Given the description of an element on the screen output the (x, y) to click on. 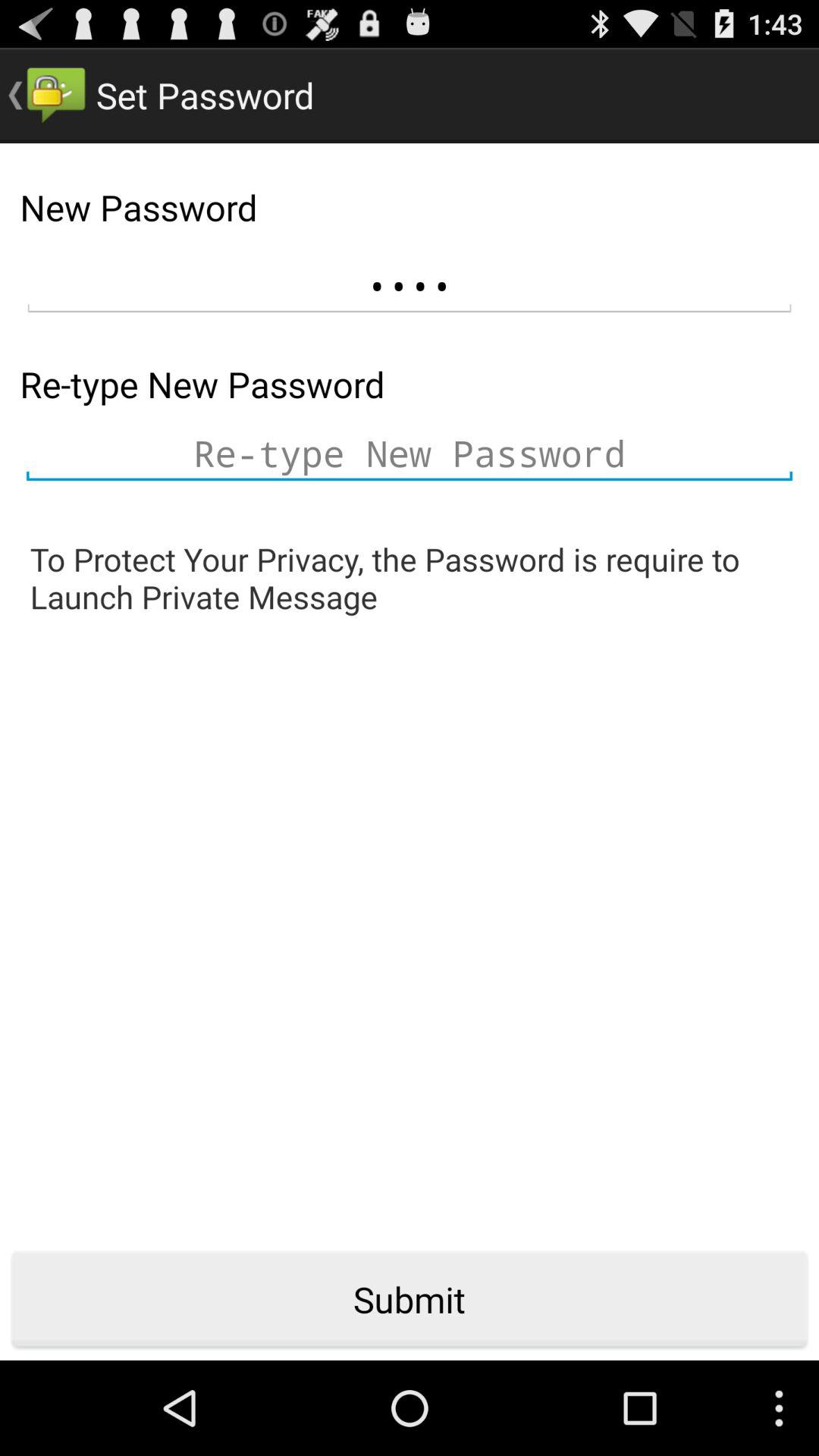
enter new password (409, 452)
